Given the description of an element on the screen output the (x, y) to click on. 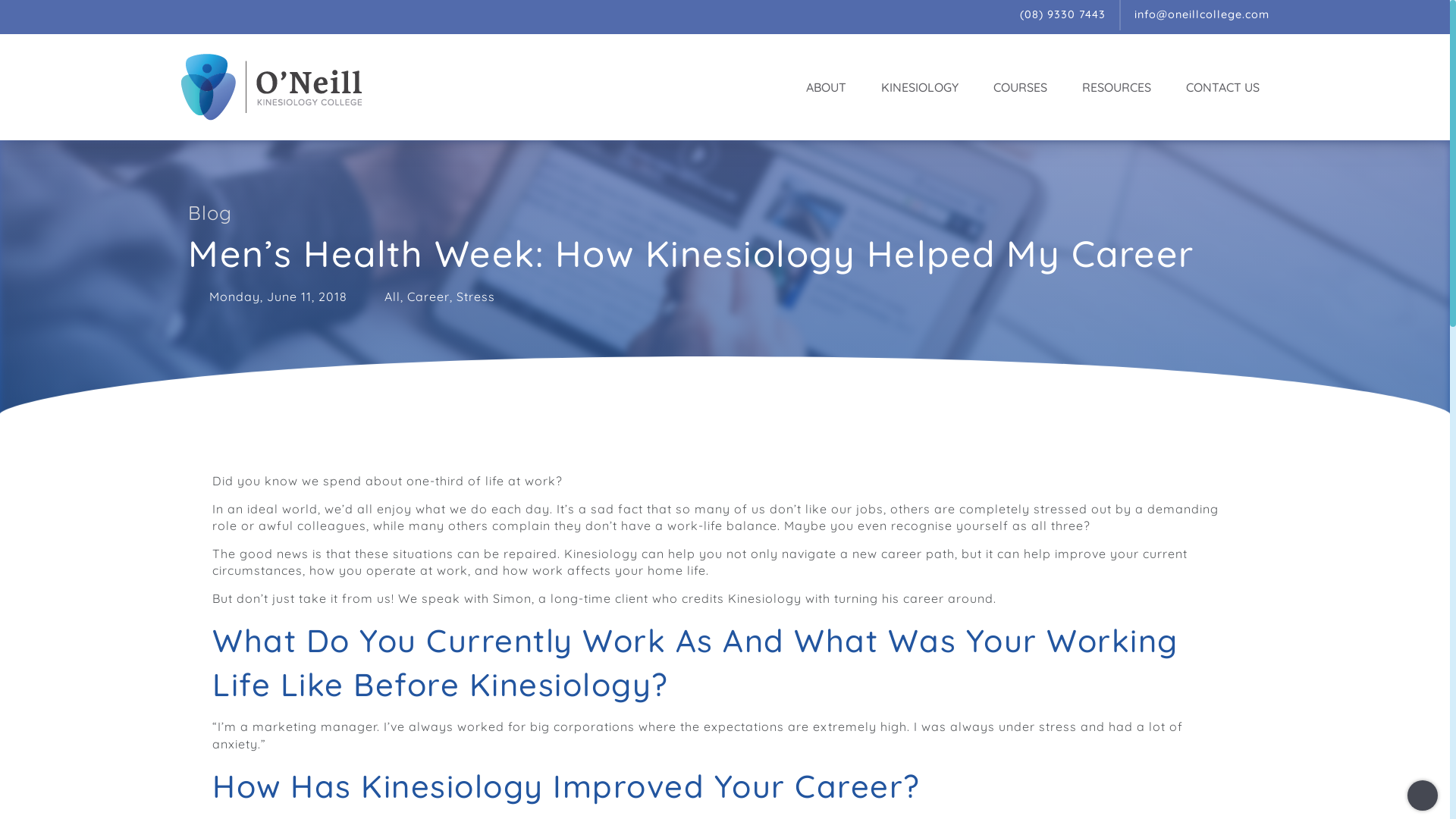
Blog Element type: text (210, 212)
CONTACT US Element type: text (1222, 86)
COURSES Element type: text (1023, 86)
KINESIOLOGY Element type: text (923, 86)
RESOURCES Element type: text (1120, 86)
info@oneillcollege.com Element type: text (1201, 14)
ABOUT Element type: text (829, 86)
(08) 9330 7443 Element type: text (1062, 14)
